Given the description of an element on the screen output the (x, y) to click on. 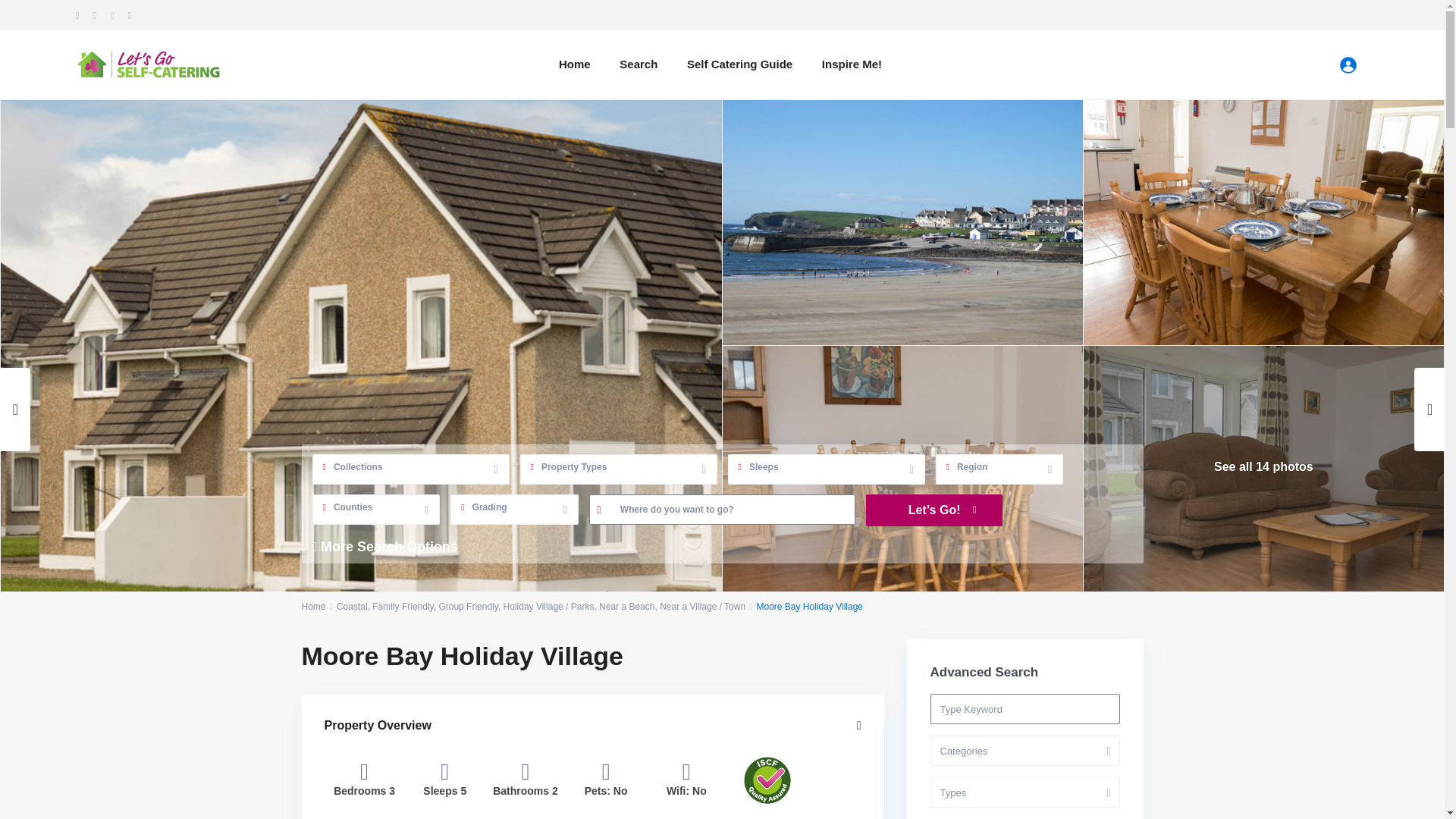
Group Friendly (467, 606)
Inspire Me! (851, 64)
Near a Beach (625, 606)
Home (313, 606)
Coastal (352, 606)
Family Friendly (402, 606)
Property Overview (592, 725)
Self Catering Guide (739, 64)
